Given the description of an element on the screen output the (x, y) to click on. 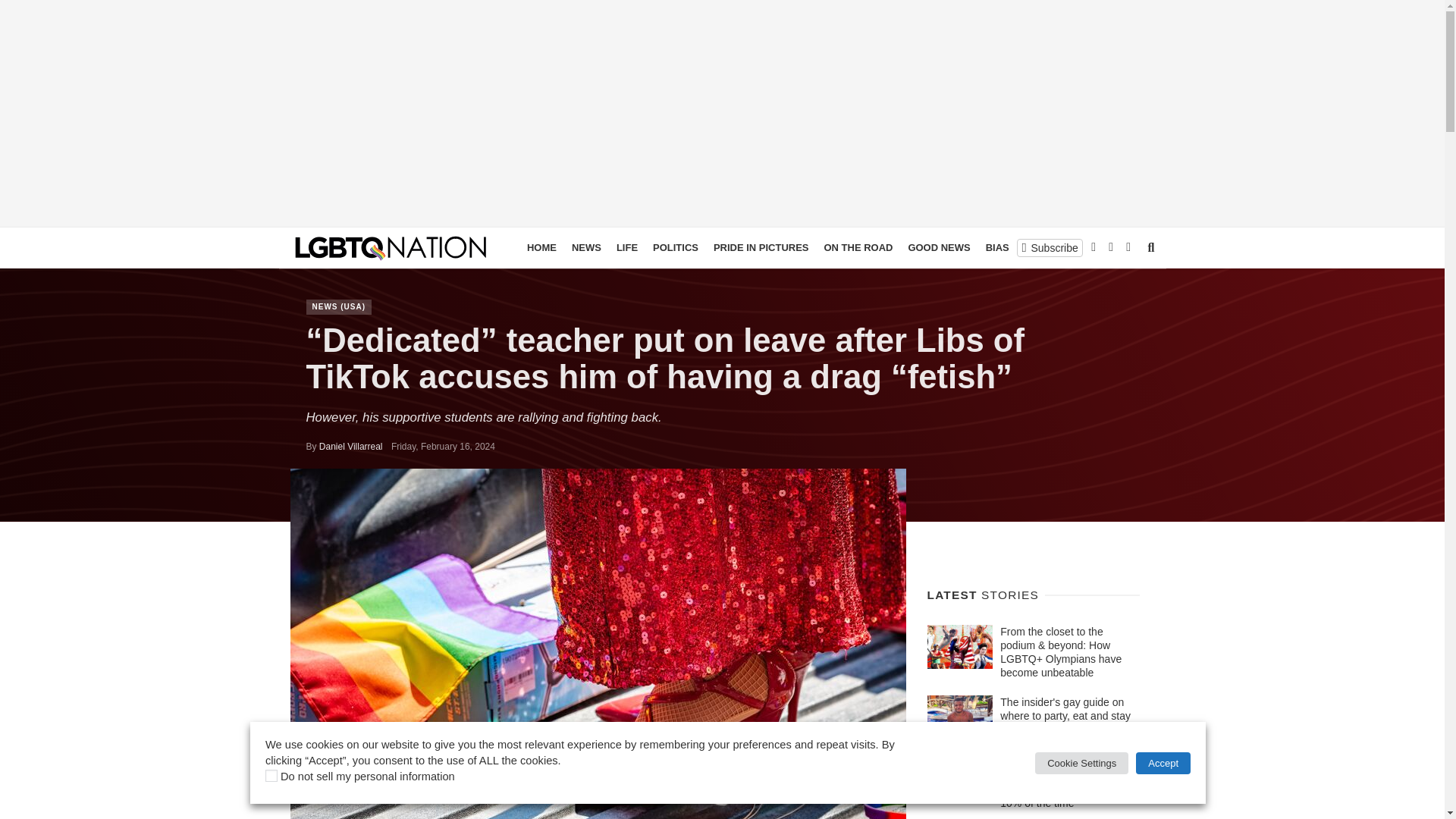
Subscribe (1049, 247)
Posts by Daniel Villarreal (350, 446)
PRIDE IN PICTURES (761, 247)
LIFE (626, 247)
GOOD NEWS (937, 247)
ON THE ROAD (857, 247)
HOME (541, 247)
Friday, February 16, 2024 pm29 14:30:00 (443, 446)
POLITICS (675, 247)
Daniel Villarreal (350, 446)
BIAS WATCH (1016, 247)
on (271, 775)
COMMENTARY (1097, 247)
NEWS (586, 247)
